Given the description of an element on the screen output the (x, y) to click on. 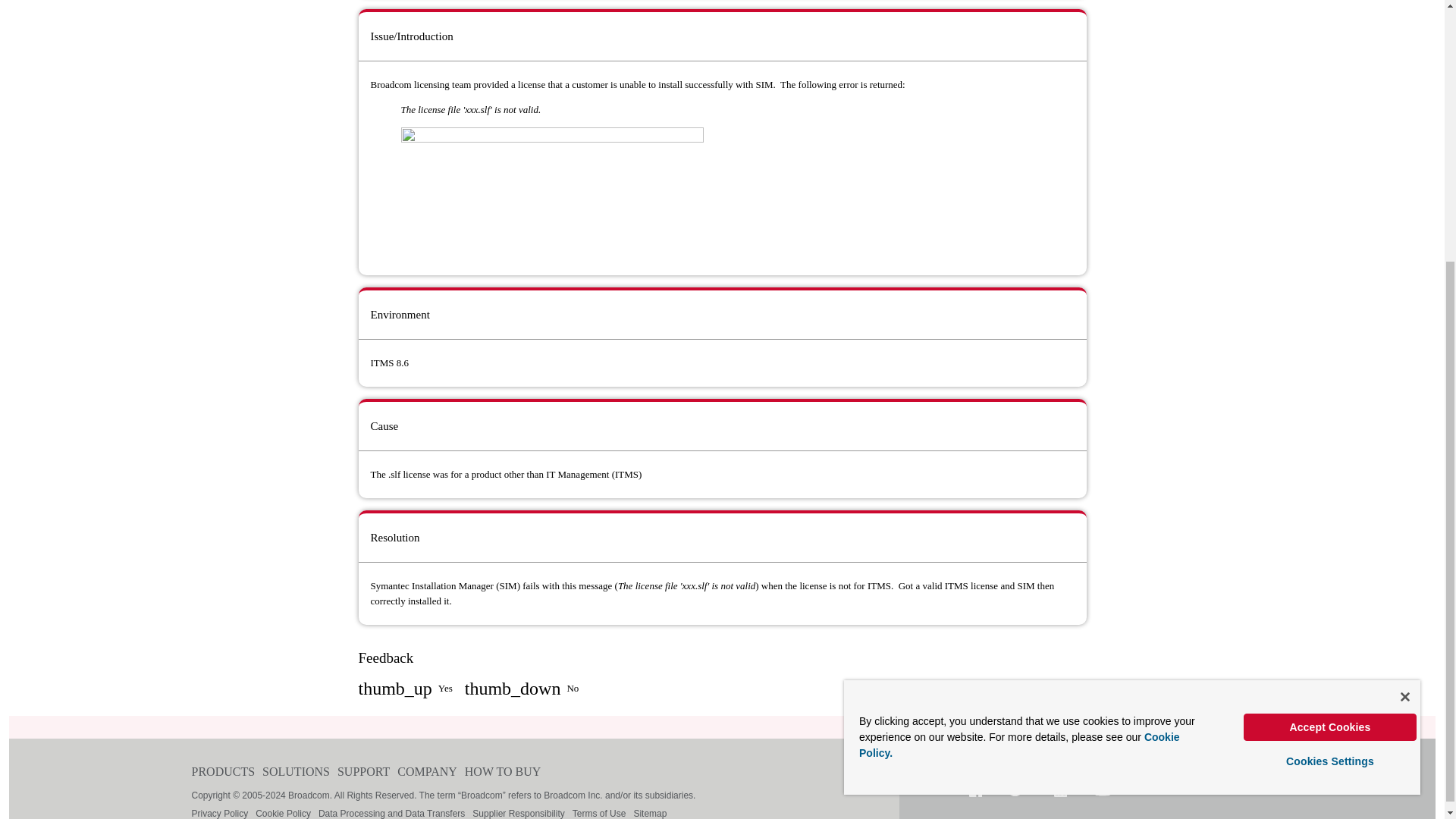
Accept Cookies (1329, 347)
Cookie Policy. (1019, 365)
Cookies Settings (1329, 380)
